Given the description of an element on the screen output the (x, y) to click on. 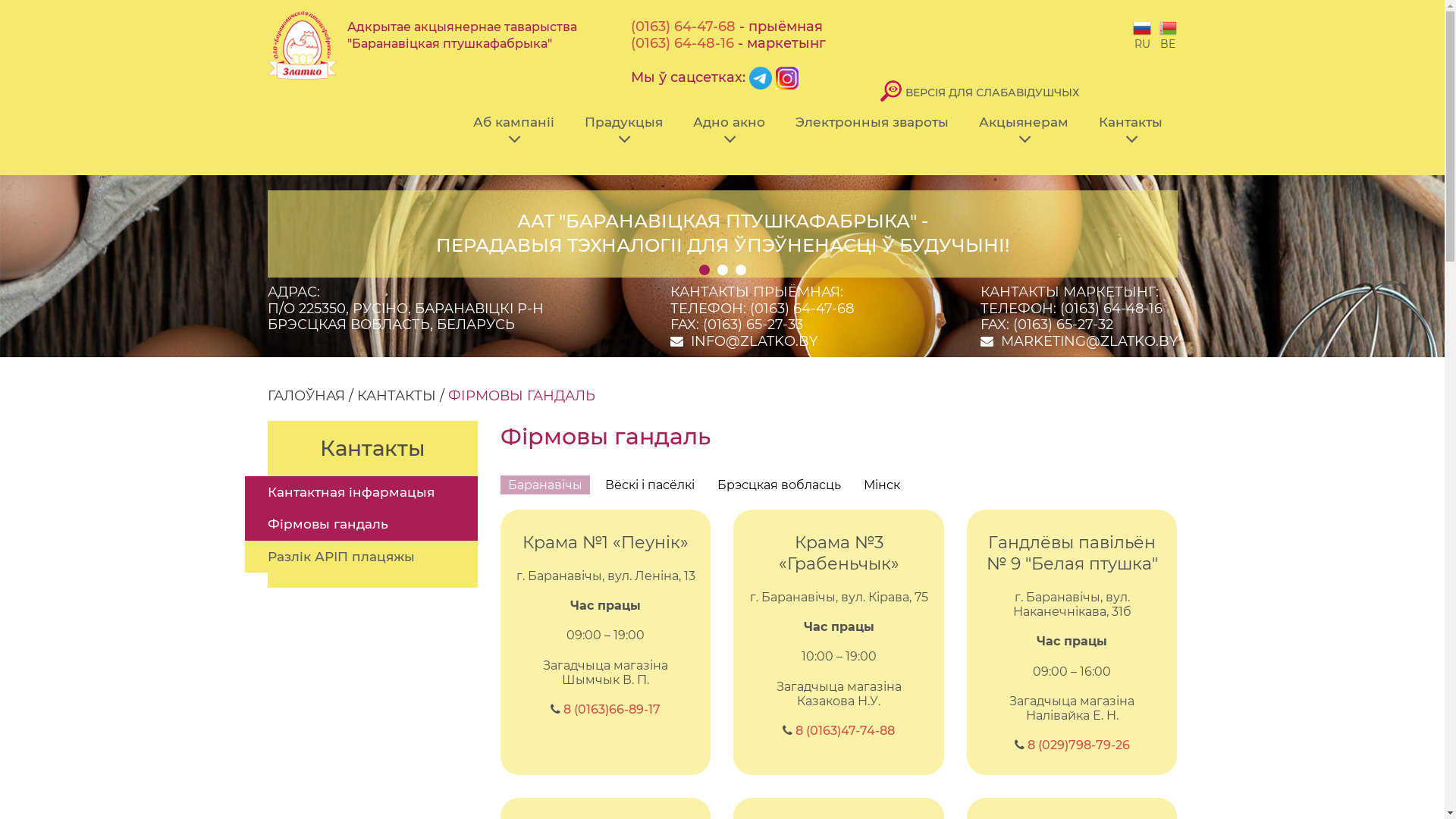
(0163) 64-48-16 Element type: text (682, 42)
(0163) 64-47-68 Element type: text (801, 308)
8 (0163)47-74-88 Element type: text (844, 730)
INFO@ZLATKO.BY Element type: text (753, 340)
8 (0163)66-89-17 Element type: text (611, 709)
8 (029)798-79-26 Element type: text (1078, 744)
(0163) 64-47-68 Element type: text (682, 26)
MARKETING@ZLATKO.BY Element type: text (1089, 340)
BE Element type: text (1167, 34)
(0163) 64-48-16 Element type: text (1111, 308)
RU Element type: text (1141, 34)
